Given the description of an element on the screen output the (x, y) to click on. 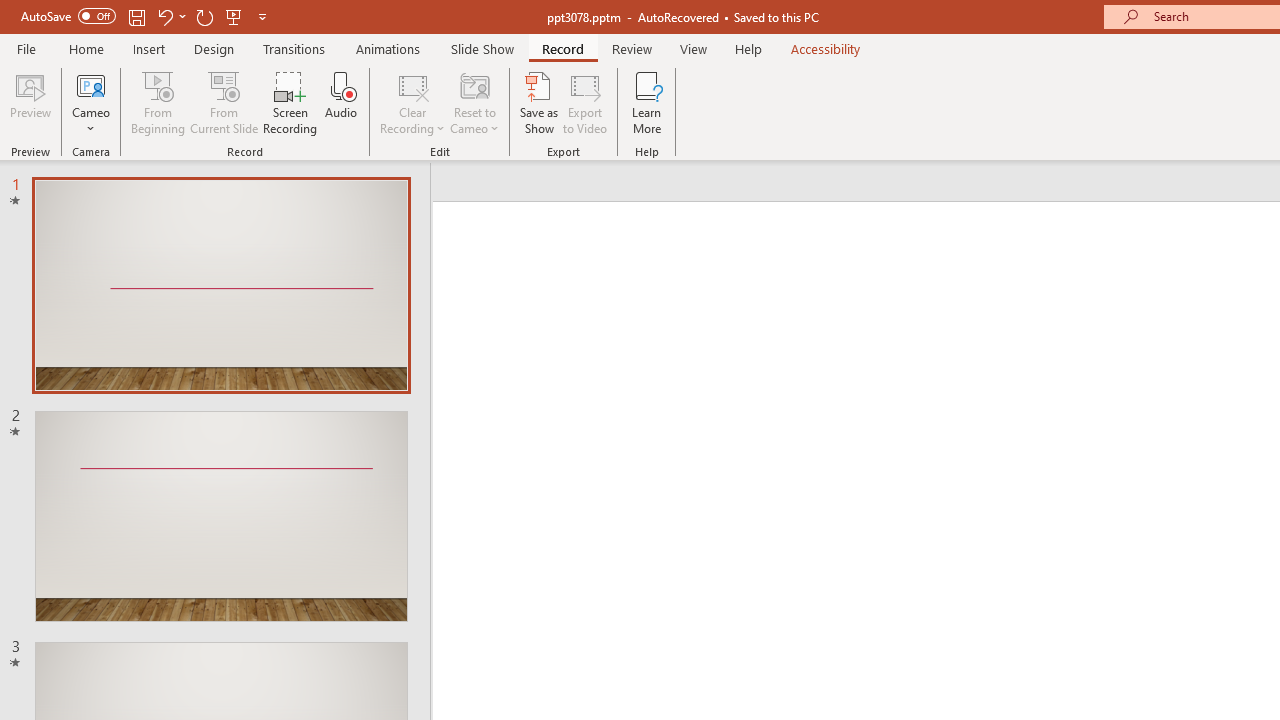
From Beginning... (158, 102)
Screen Recording (290, 102)
Clear Recording (412, 102)
